Given the description of an element on the screen output the (x, y) to click on. 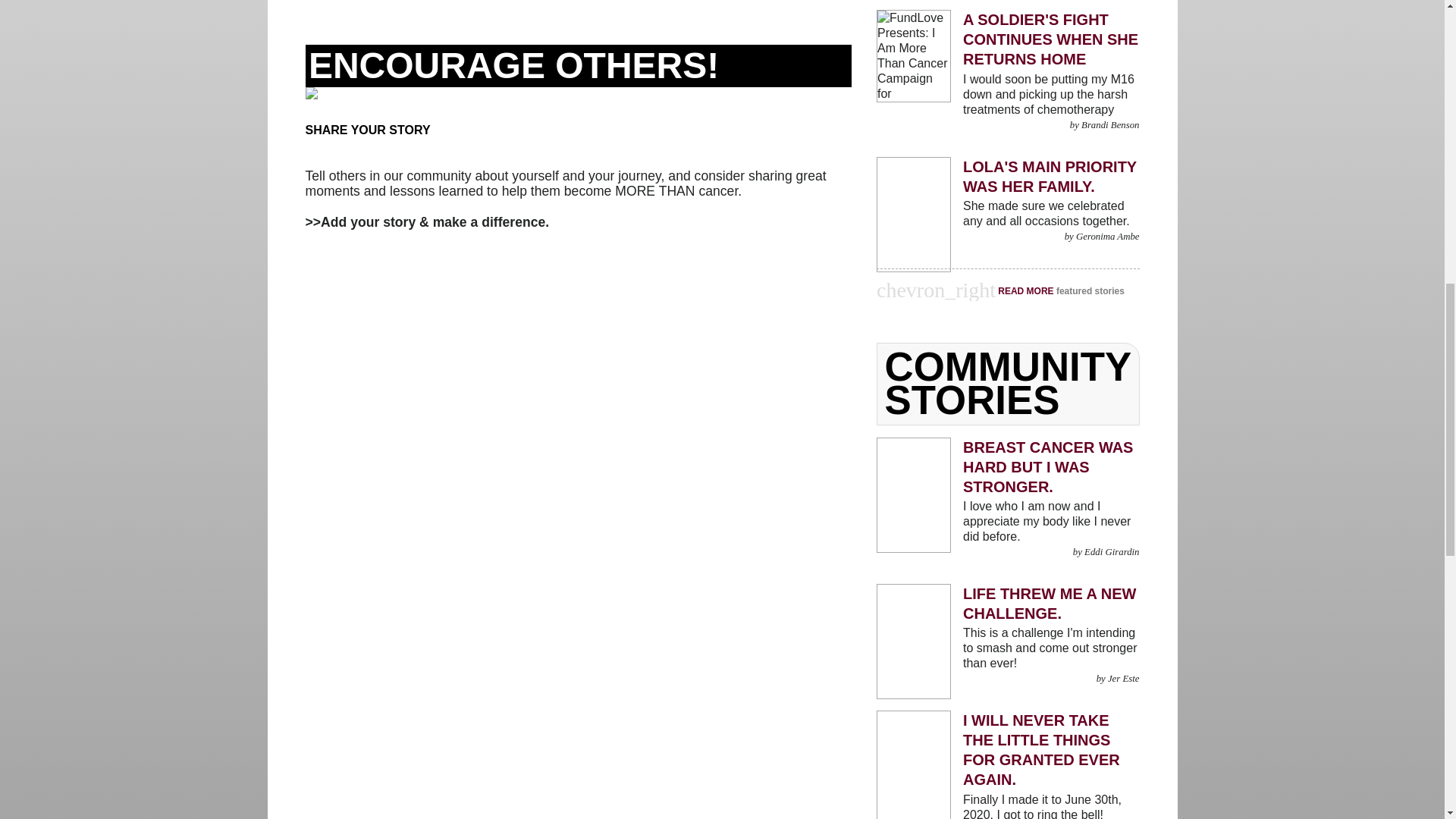
LOLA'S MAIN PRIORITY WAS HER FAMILY. (1049, 176)
A SOLDIER'S FIGHT CONTINUES WHEN SHE RETURNS HOME (1050, 39)
SHARE YOUR STORY (577, 152)
